Given the description of an element on the screen output the (x, y) to click on. 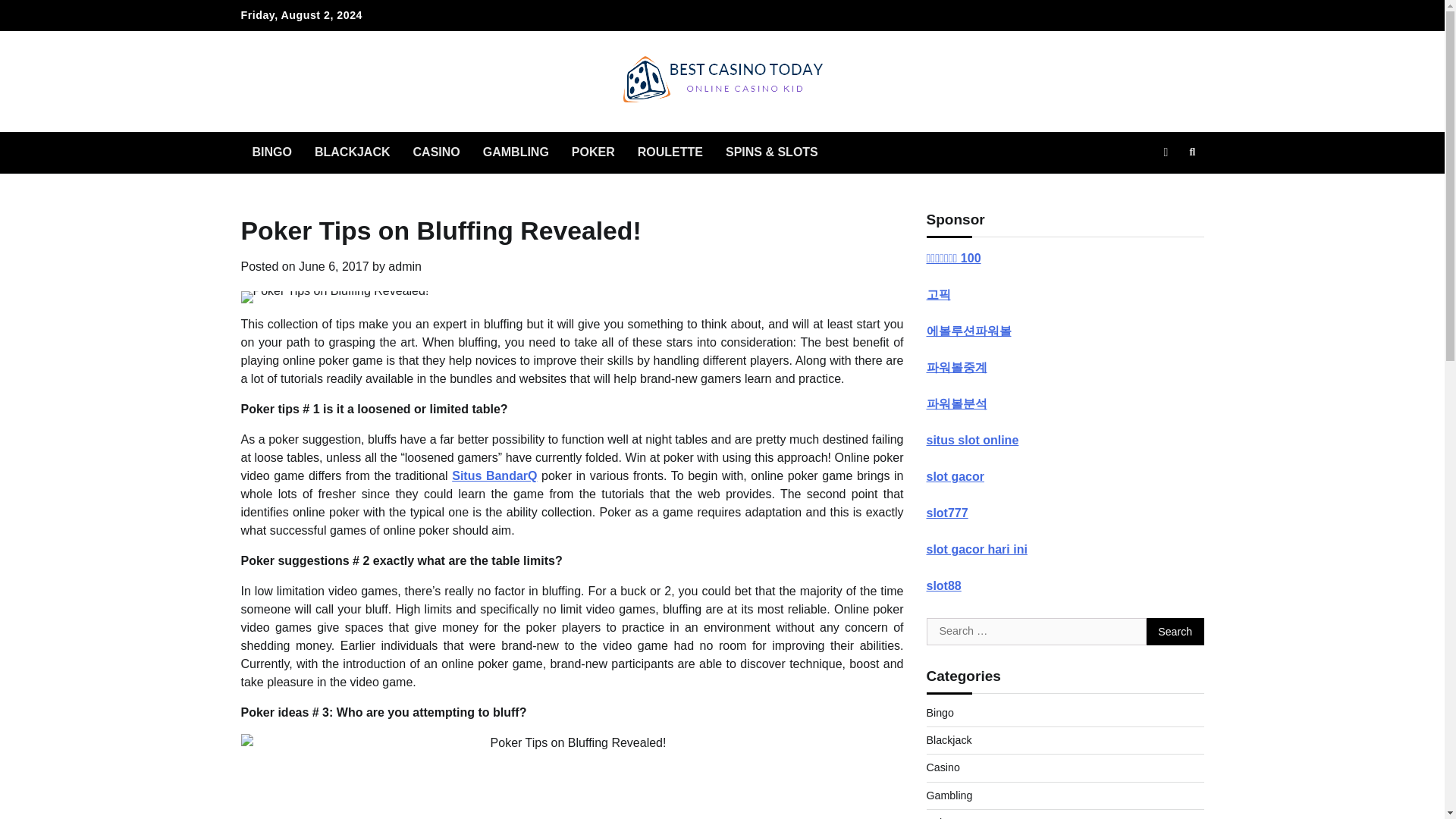
June 6, 2017 (333, 266)
Search (1175, 631)
Poker Tips on Bluffing Revealed! (572, 776)
Search (1192, 151)
View Random Post (1165, 151)
situs slot online (972, 440)
slot777 (947, 512)
Situs BandarQ (494, 475)
BINGO (271, 151)
slot gacor (955, 476)
POKER (593, 151)
slot88 (943, 585)
admin (405, 266)
BLACKJACK (351, 151)
GAMBLING (515, 151)
